Given the description of an element on the screen output the (x, y) to click on. 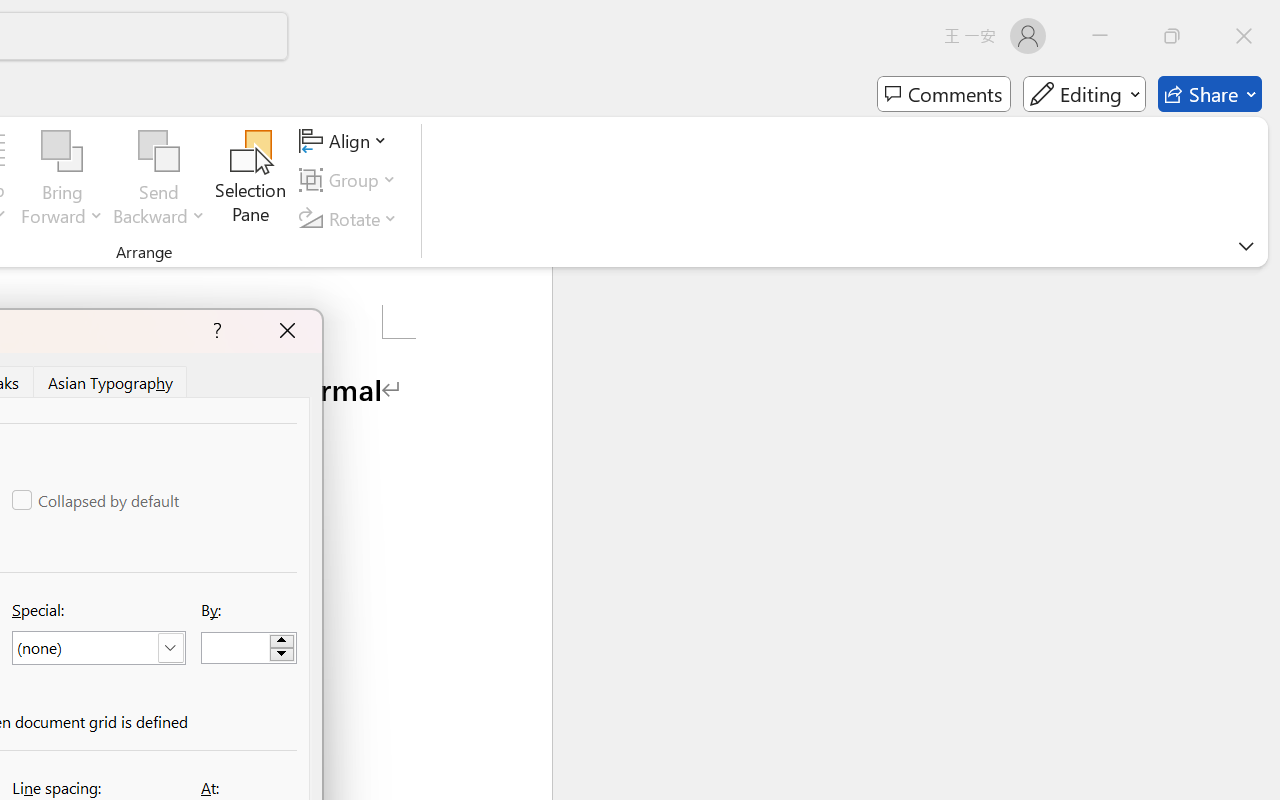
Group (351, 179)
Send Backward (159, 179)
Asian Typography (111, 381)
RichEdit Control (235, 647)
